Given the description of an element on the screen output the (x, y) to click on. 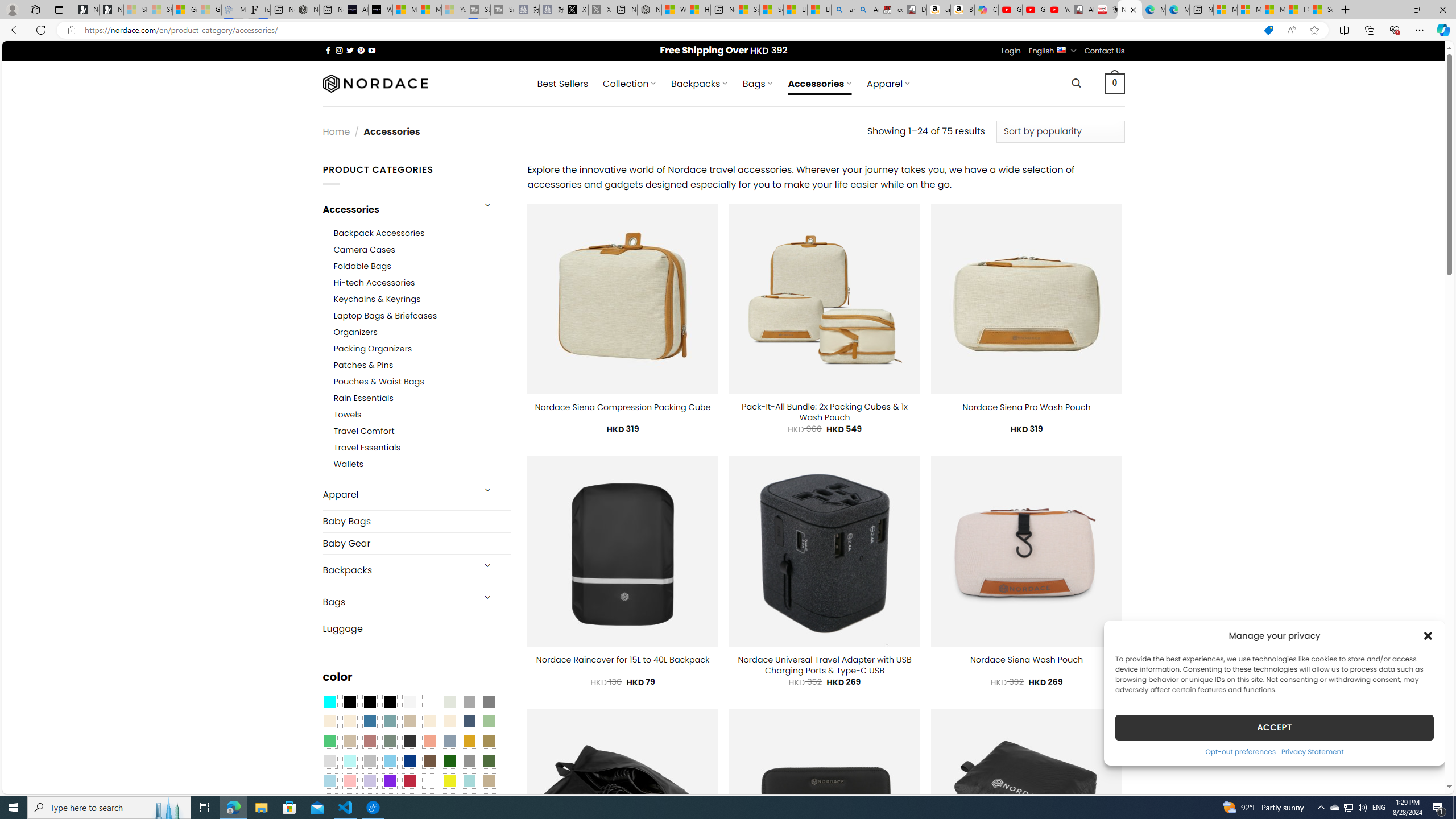
Patches & Pins (363, 365)
Yellow (449, 780)
Travel Comfort (422, 431)
Camera Cases (422, 248)
Luggage (416, 627)
Hi-tech Accessories (422, 282)
Packing Organizers (372, 348)
Towels (422, 415)
Dark Gray (468, 701)
Hi-tech Accessories (373, 282)
Beige-Brown (349, 721)
